Given the description of an element on the screen output the (x, y) to click on. 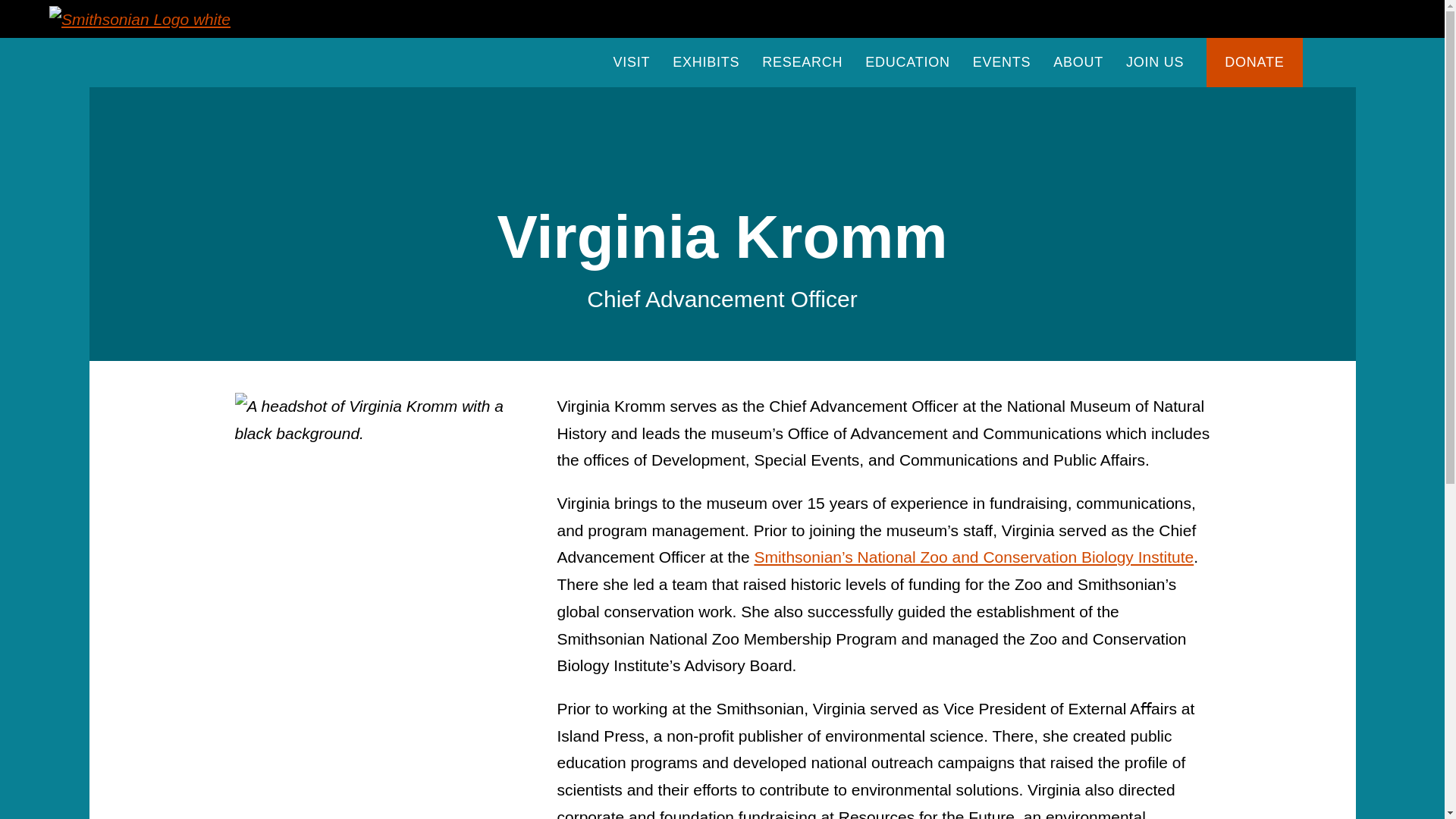
ABOUT (1077, 61)
JOIN US (1154, 61)
DONATE (1254, 61)
EXHIBITS (705, 61)
RESEARCH (802, 61)
Search (967, 214)
EVENTS (1001, 61)
SEARCH (1328, 61)
Smithsonian (139, 18)
Skip to main content (620, 4)
Smithsonian Institution (139, 18)
EDUCATION (906, 61)
